Given the description of an element on the screen output the (x, y) to click on. 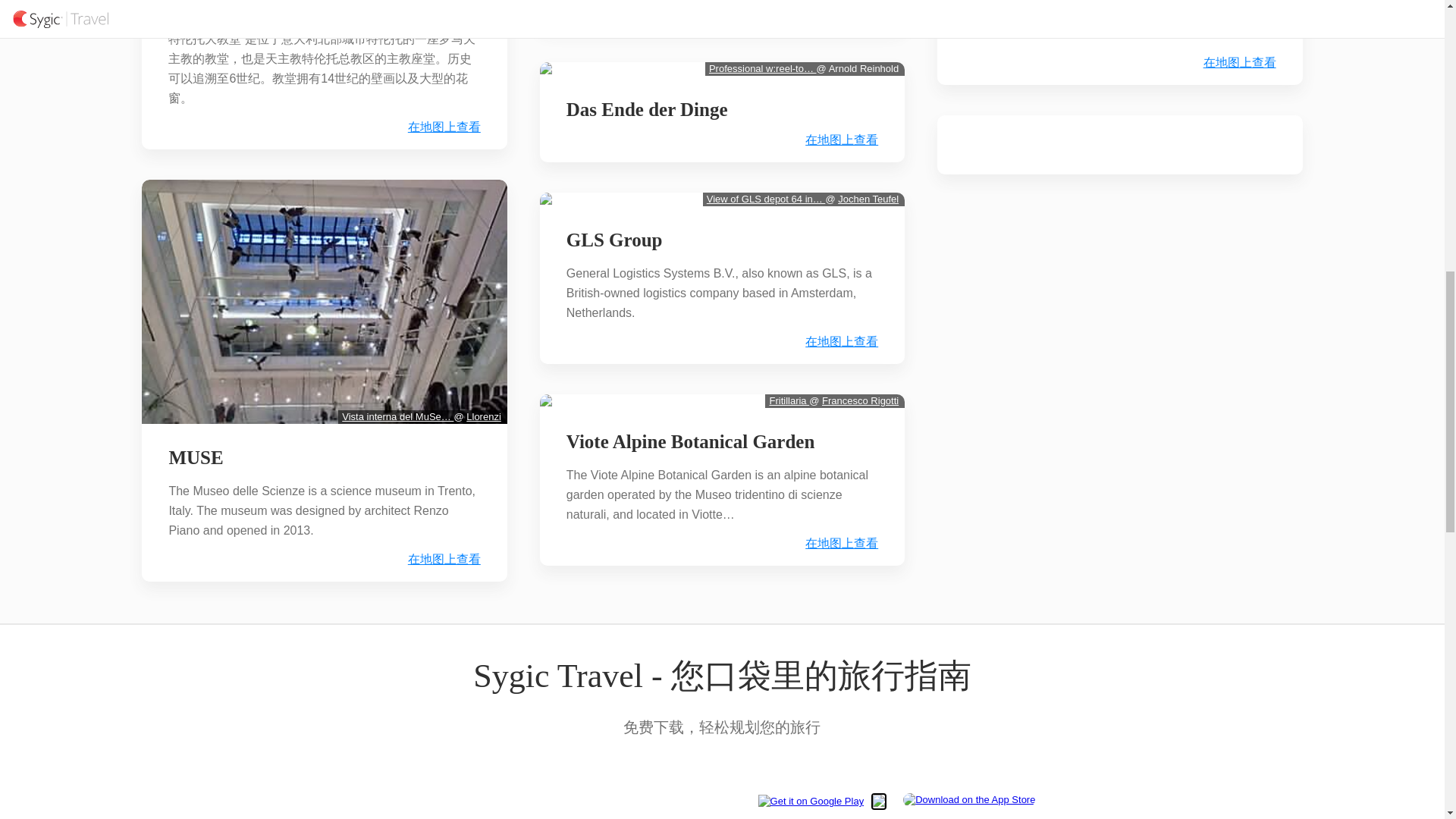
Llorenzi (482, 416)
MUSE (194, 456)
Das Ende der Dinge (647, 109)
